Given the description of an element on the screen output the (x, y) to click on. 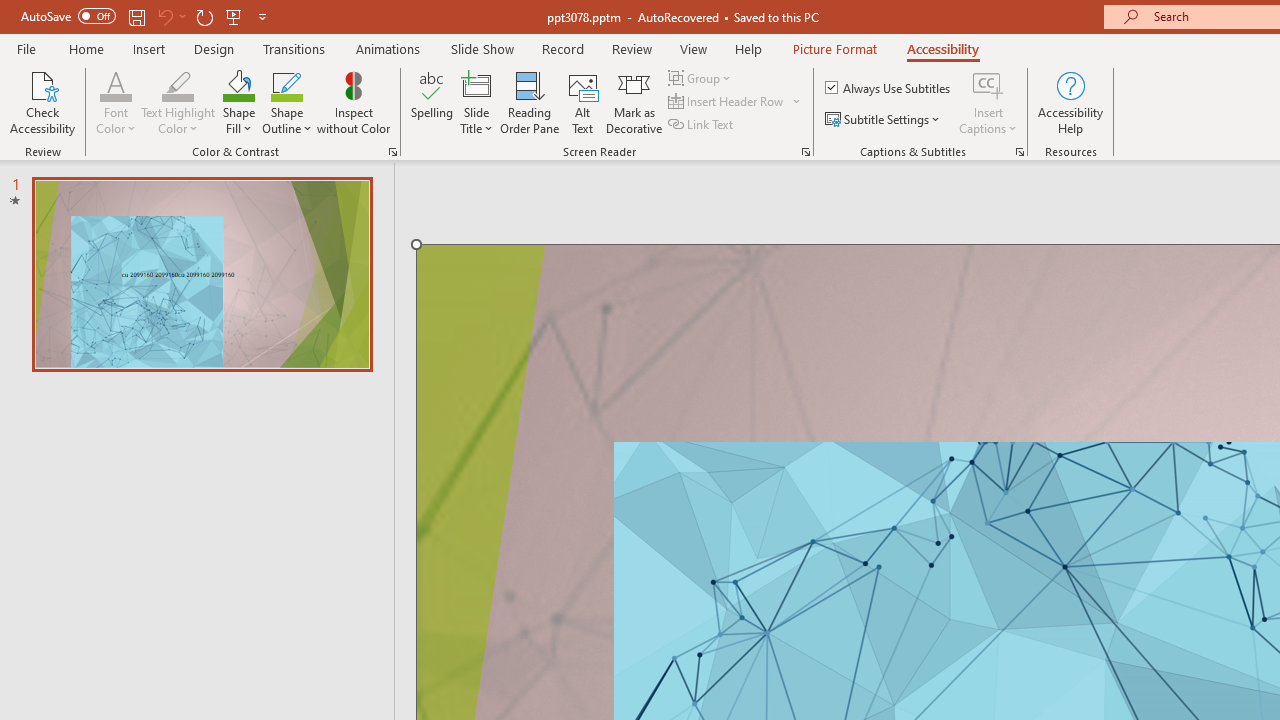
Insert Captions (988, 84)
Captions & Subtitles (1019, 151)
Subtitle Settings (884, 119)
Picture Format (834, 48)
Insert Captions (988, 102)
Always Use Subtitles (889, 87)
Spelling... (432, 102)
Accessibility Help (1070, 102)
Link Text (702, 124)
